Given the description of an element on the screen output the (x, y) to click on. 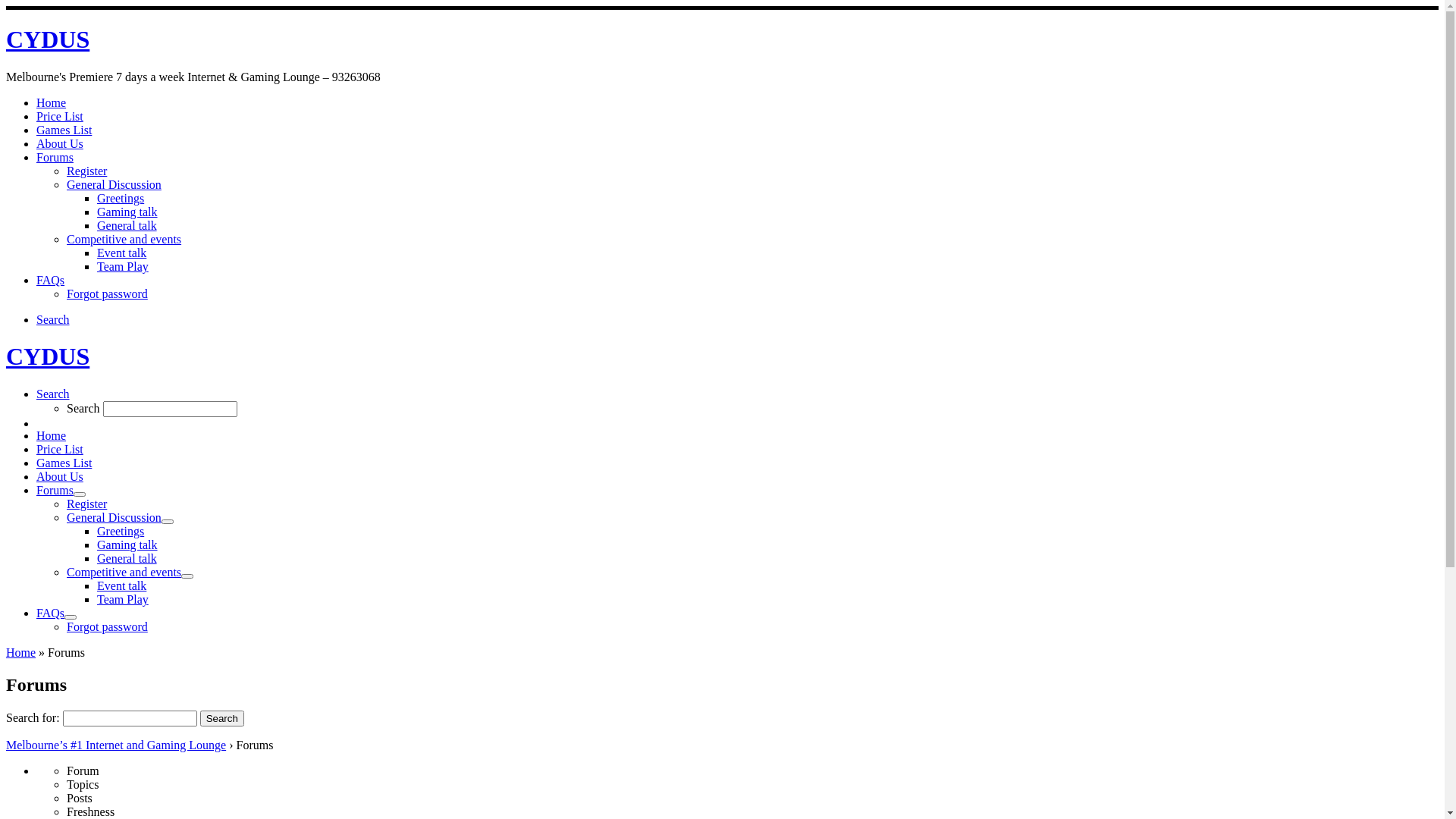
Home Element type: text (20, 652)
Competitive and events Element type: text (123, 238)
CYDUS Element type: text (47, 356)
CYDUS Element type: text (47, 39)
Gaming talk Element type: text (127, 544)
Gaming talk Element type: text (127, 211)
Register Element type: text (86, 503)
General Discussion Element type: text (113, 184)
General Discussion Element type: text (113, 517)
Event talk Element type: text (121, 252)
FAQs Element type: text (50, 612)
Search Element type: text (222, 718)
FAQs Element type: text (50, 279)
Search Element type: text (52, 319)
Forgot password Element type: text (106, 293)
Games List Element type: text (63, 462)
Price List Element type: text (59, 448)
Forums Element type: text (54, 489)
General talk Element type: text (126, 225)
Price List Element type: text (59, 115)
Games List Element type: text (63, 129)
Team Play Element type: text (122, 599)
Home Element type: text (50, 435)
About Us Element type: text (59, 476)
Home Element type: text (50, 102)
Event talk Element type: text (121, 585)
Forums Element type: text (54, 156)
Greetings Element type: text (120, 530)
Competitive and events Element type: text (123, 571)
Search Element type: text (52, 393)
Register Element type: text (86, 170)
Forgot password Element type: text (106, 626)
Greetings Element type: text (120, 197)
About Us Element type: text (59, 143)
Team Play Element type: text (122, 266)
General talk Element type: text (126, 558)
